Given the description of an element on the screen output the (x, y) to click on. 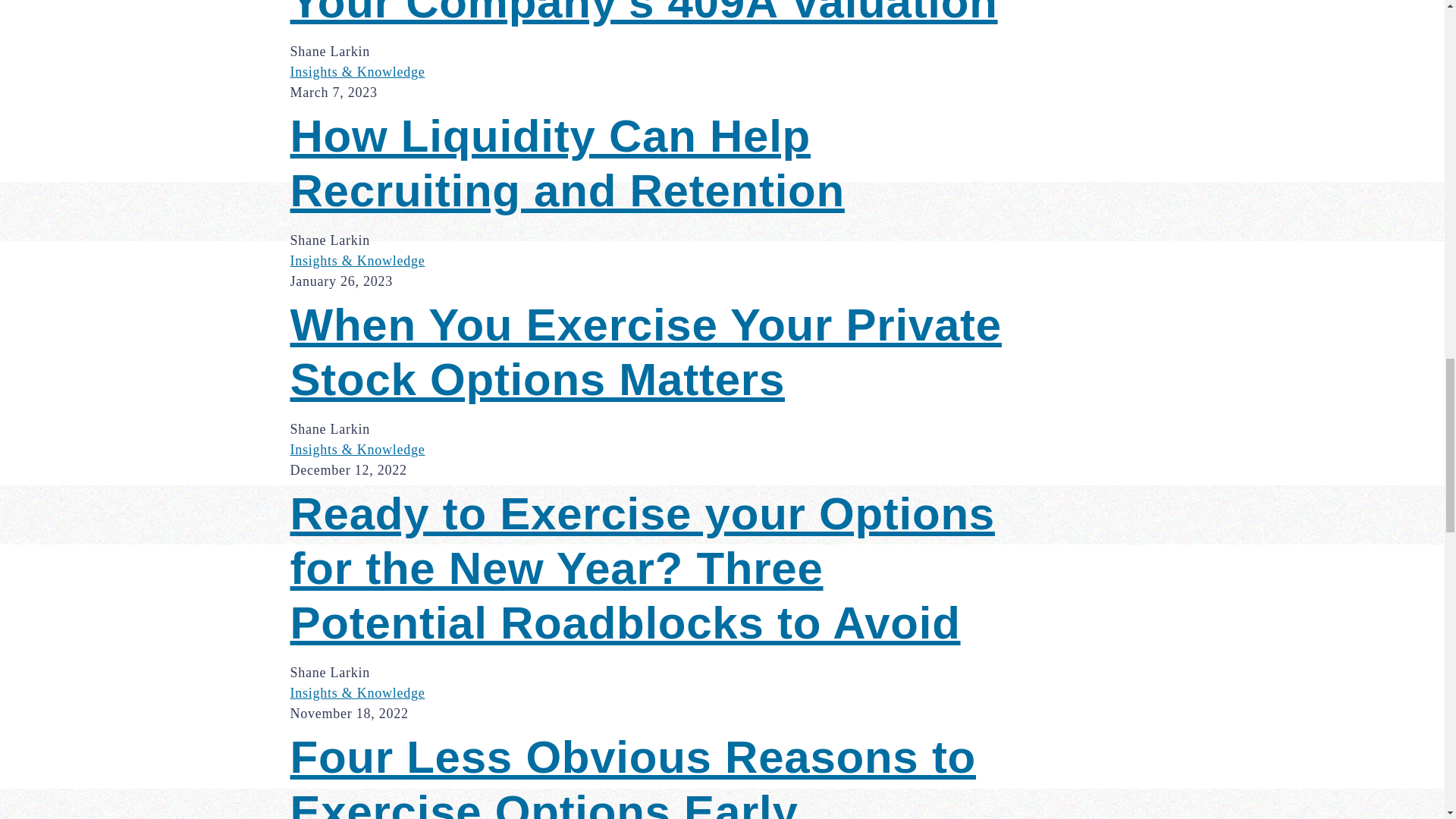
How Liquidity Can Help Recruiting and Retention (658, 163)
When You Exercise Your Private Stock Options Matters (658, 352)
Four Less Obvious Reasons to Exercise Options Early (658, 774)
How Liquidity Can Help Recruiting and Retention (658, 163)
When You Exercise Your Private Stock Options Matters (658, 352)
